Given the description of an element on the screen output the (x, y) to click on. 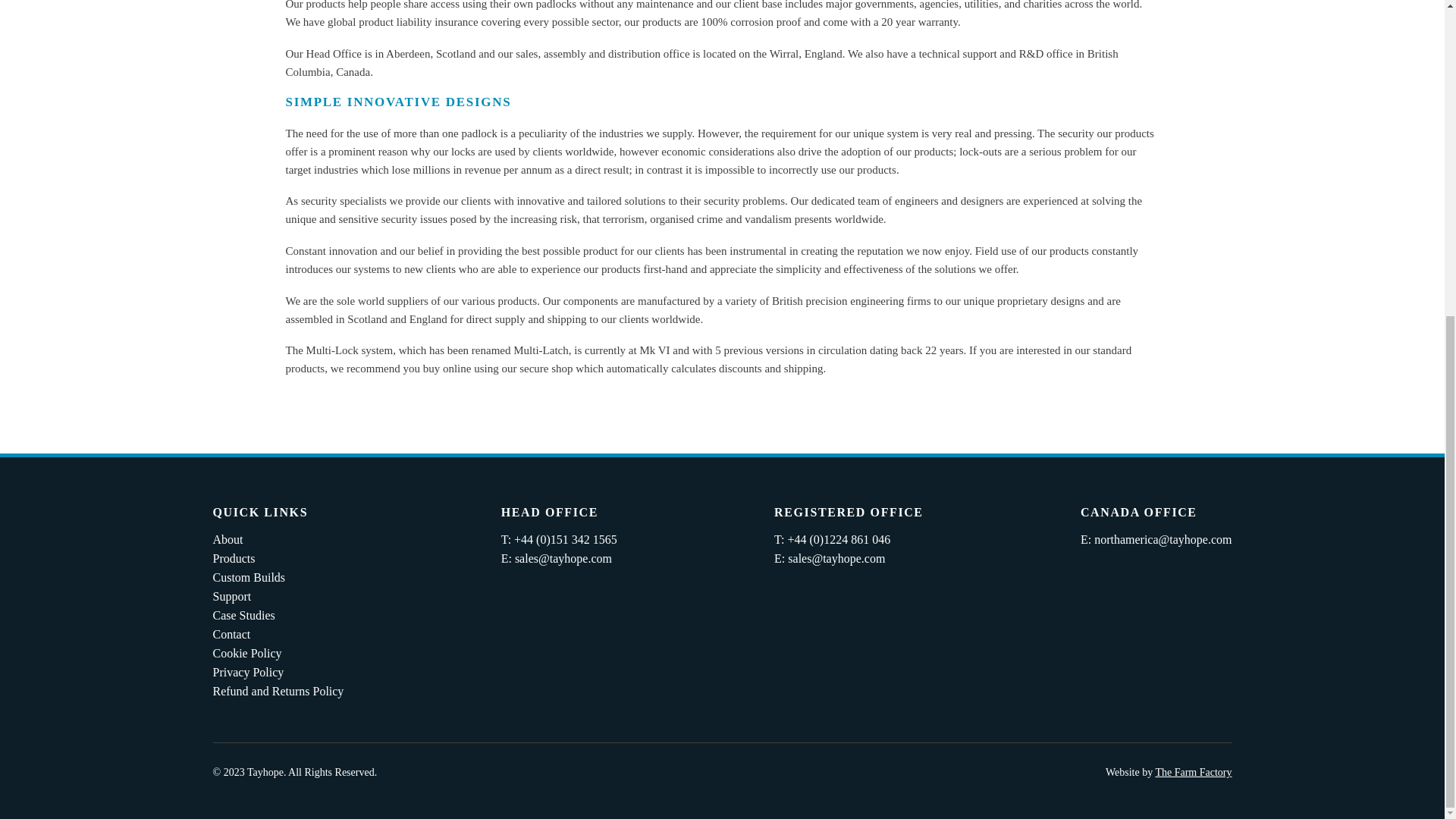
Case Studies (243, 615)
The Farm Factory (1192, 772)
About (227, 539)
Cookie Policy (246, 653)
Contact (231, 634)
Custom Builds (248, 576)
Products (233, 558)
Support (231, 595)
Privacy Policy (247, 671)
Refund and Returns Policy (277, 690)
